Given the description of an element on the screen output the (x, y) to click on. 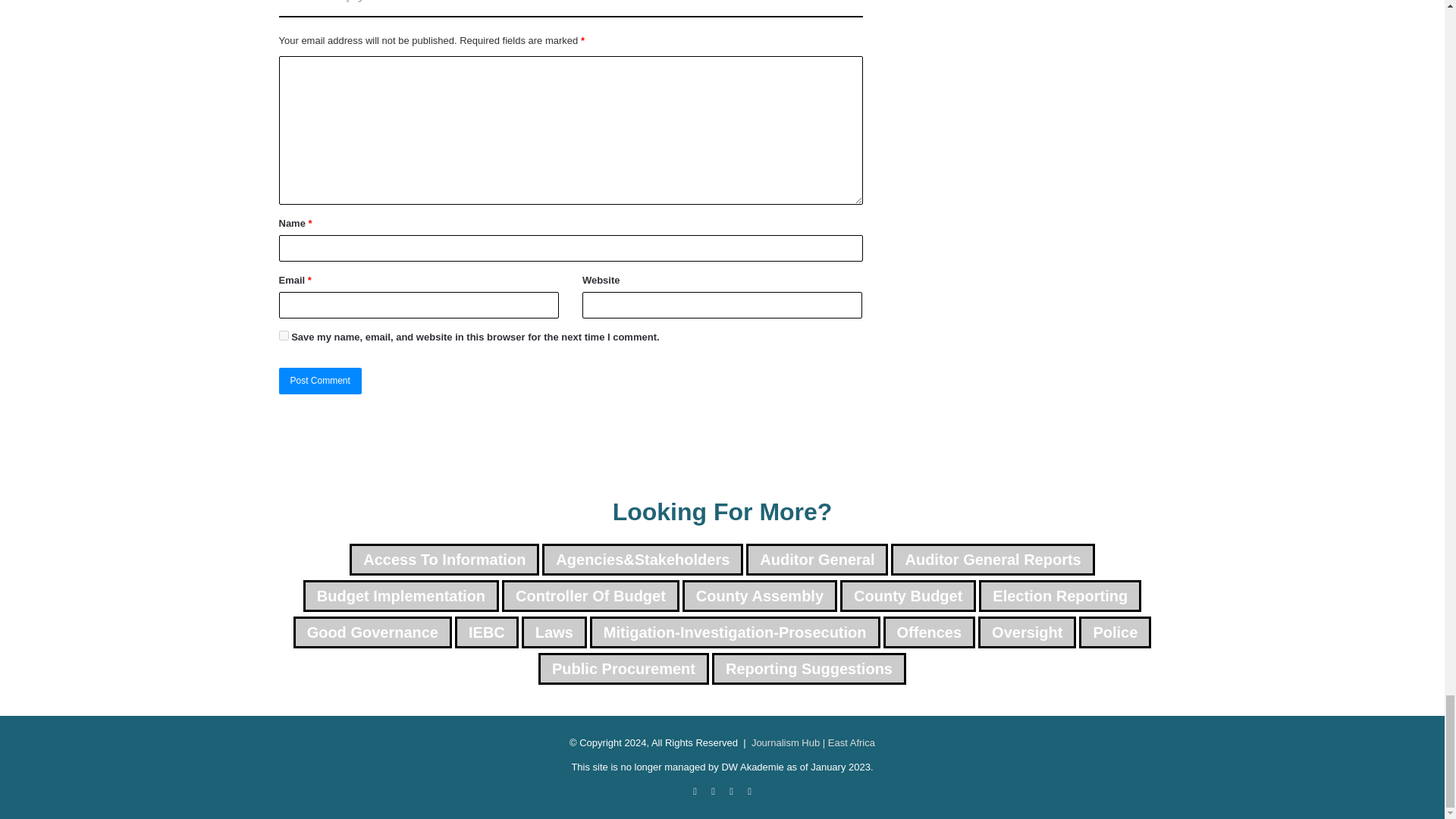
Post Comment (320, 380)
yes (283, 335)
